Given the description of an element on the screen output the (x, y) to click on. 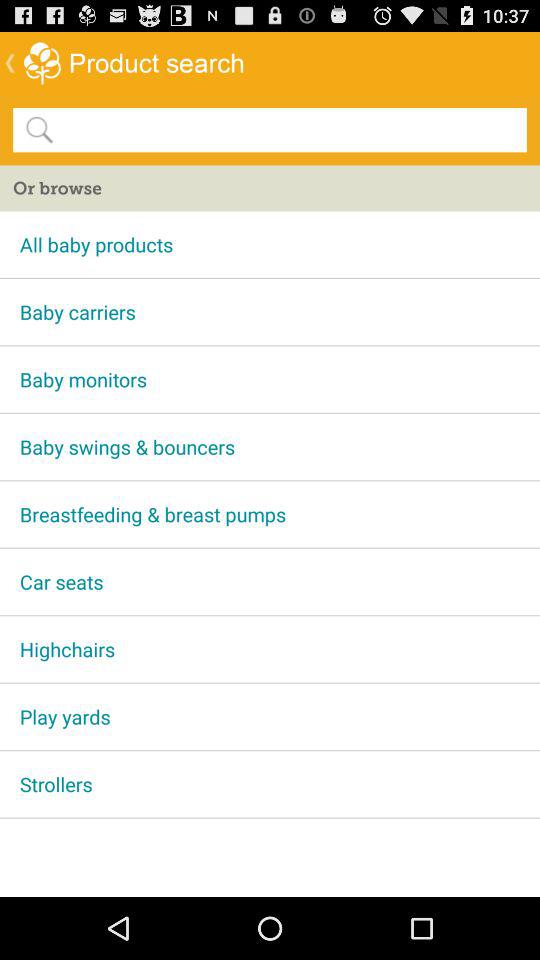
open the all baby products app (270, 244)
